Given the description of an element on the screen output the (x, y) to click on. 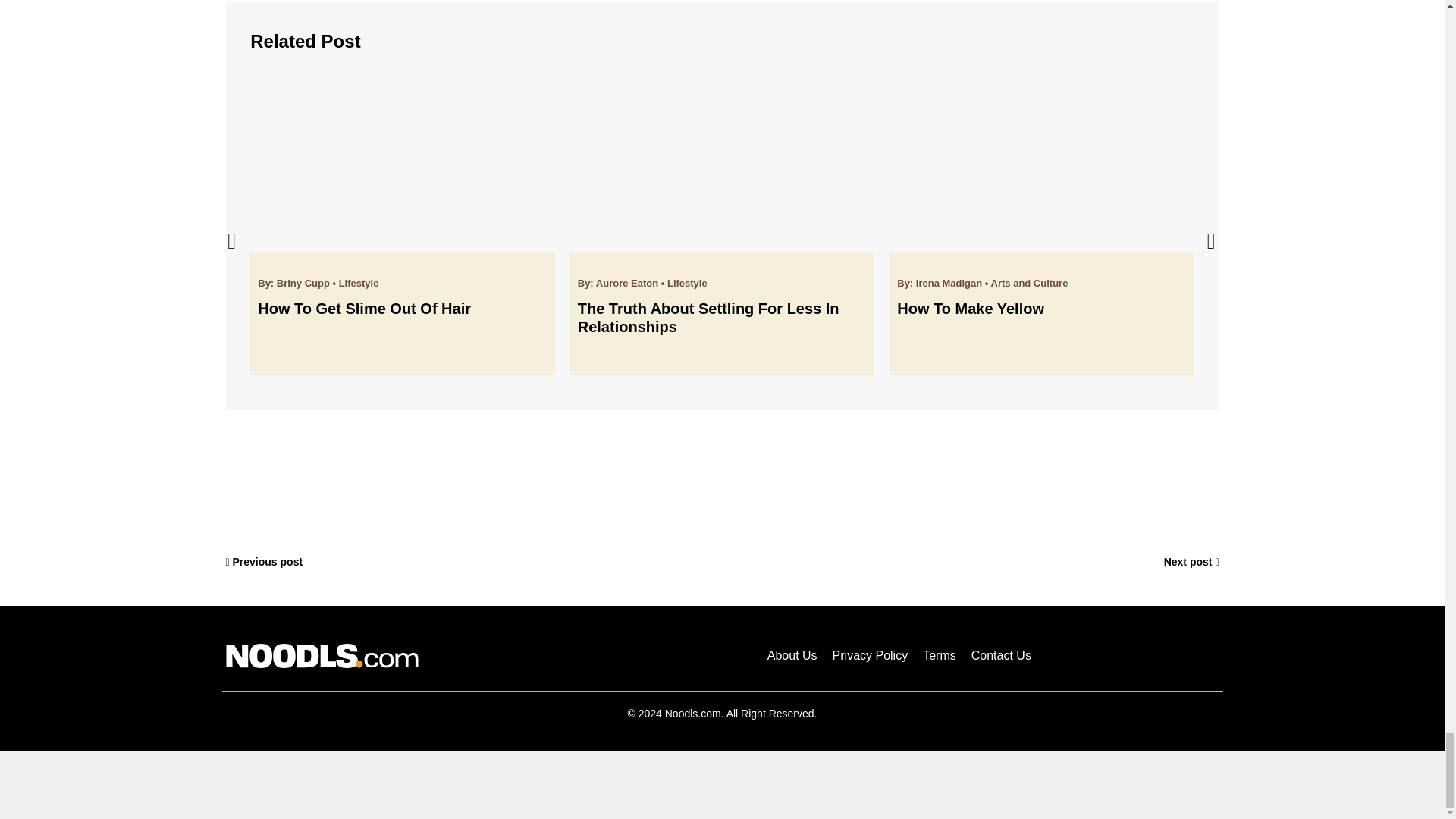
Noodls (322, 655)
